Given the description of an element on the screen output the (x, y) to click on. 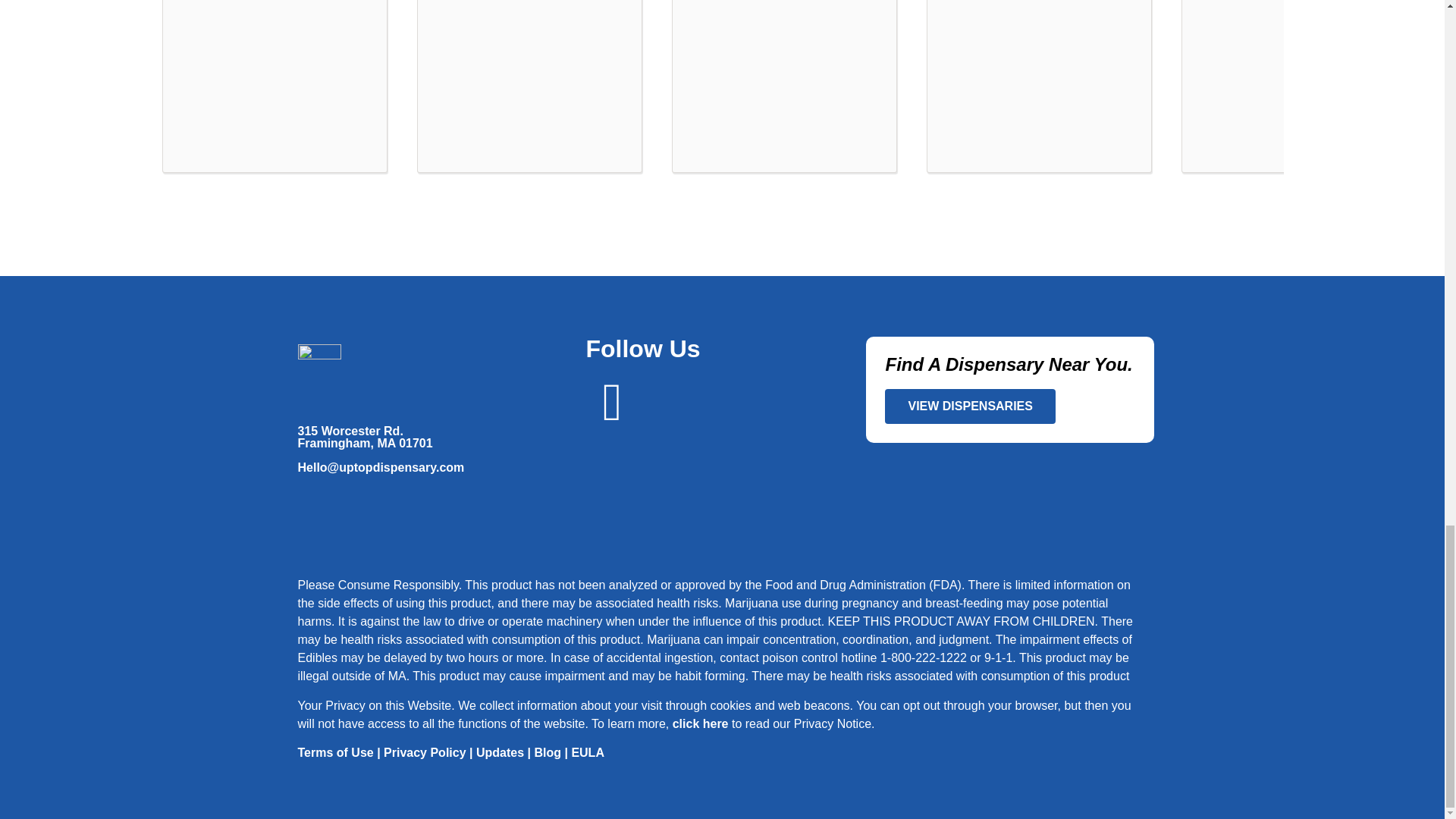
EULA (587, 752)
Blog (547, 752)
Terms of Use (334, 752)
click here (700, 723)
Updates (500, 752)
Privacy Policy (424, 752)
VIEW DISPENSARIES (969, 406)
